Given the description of an element on the screen output the (x, y) to click on. 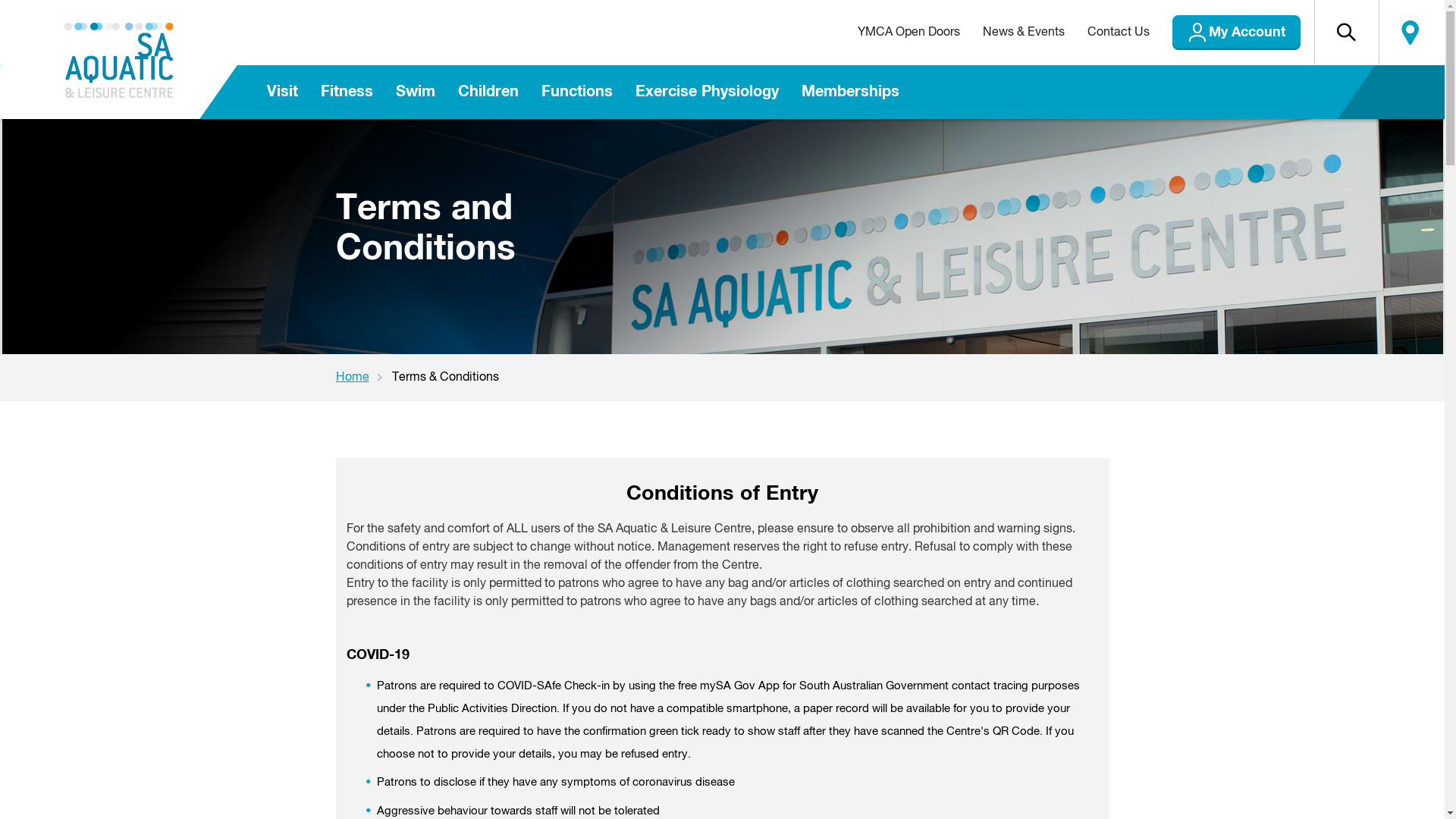
Contact Us Element type: text (1117, 32)
Locate Element type: text (1410, 32)
YMCA Open Doors Element type: text (908, 32)
Children Element type: text (487, 92)
Exercise Physiology Element type: text (706, 92)
Home Element type: text (363, 377)
Fitness Element type: text (346, 92)
Functions Element type: text (576, 92)
Memberships Element type: text (850, 92)
My Account Element type: text (1236, 32)
Visit Element type: text (281, 92)
News & Events Element type: text (1022, 32)
Swim Element type: text (414, 92)
